Given the description of an element on the screen output the (x, y) to click on. 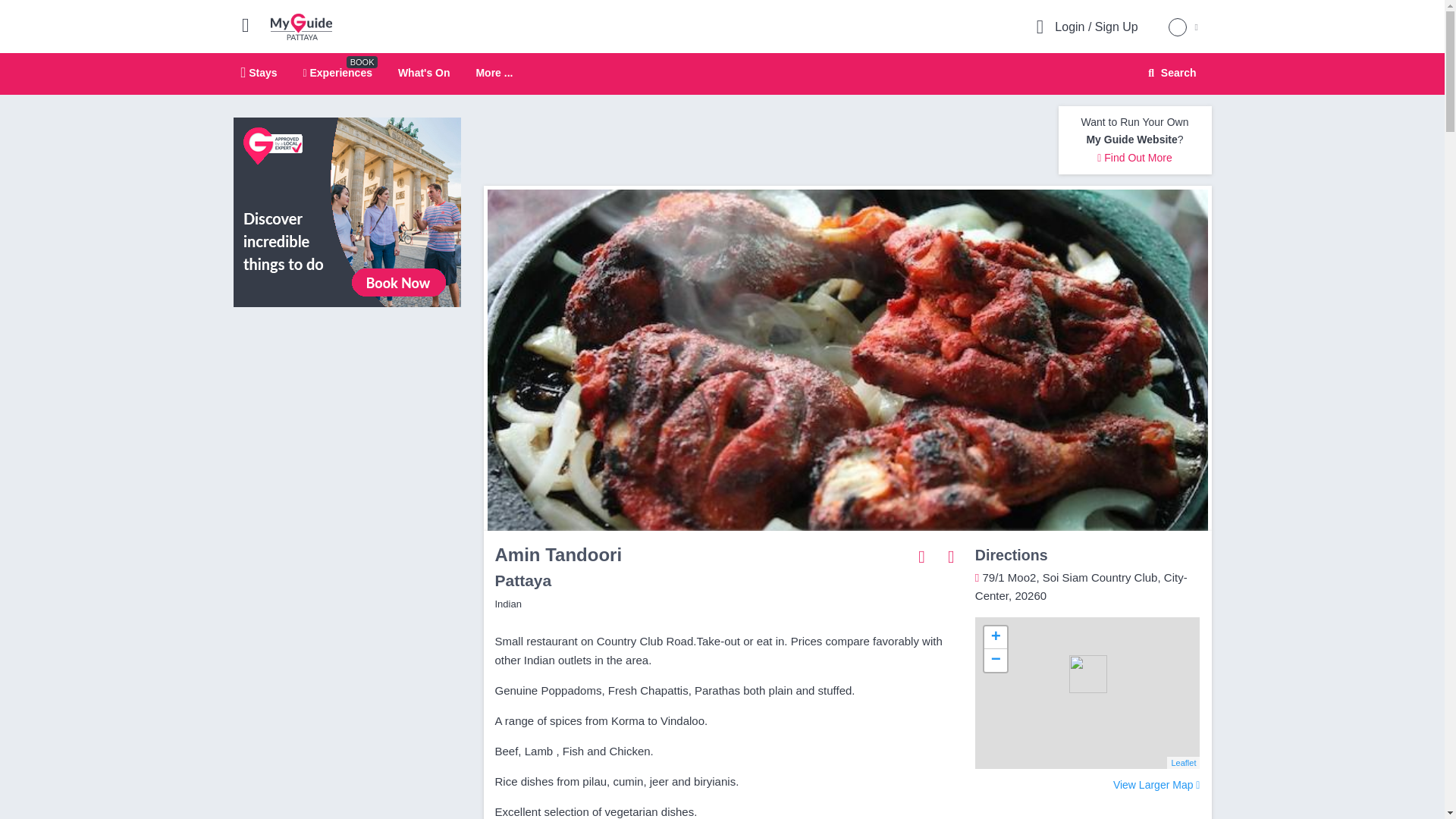
Experiences (337, 72)
Share with Friends (922, 556)
View All Experiences (346, 211)
Search Website (1170, 73)
Zoom out (995, 660)
What's On (423, 72)
A JS library for interactive maps (1182, 762)
Zoom in (995, 637)
More ... (721, 74)
Larger Map for Company: Amin Tandoori Pattaya (494, 72)
Stays (1156, 785)
My Guide Pattaya (259, 72)
Search (300, 25)
